Given the description of an element on the screen output the (x, y) to click on. 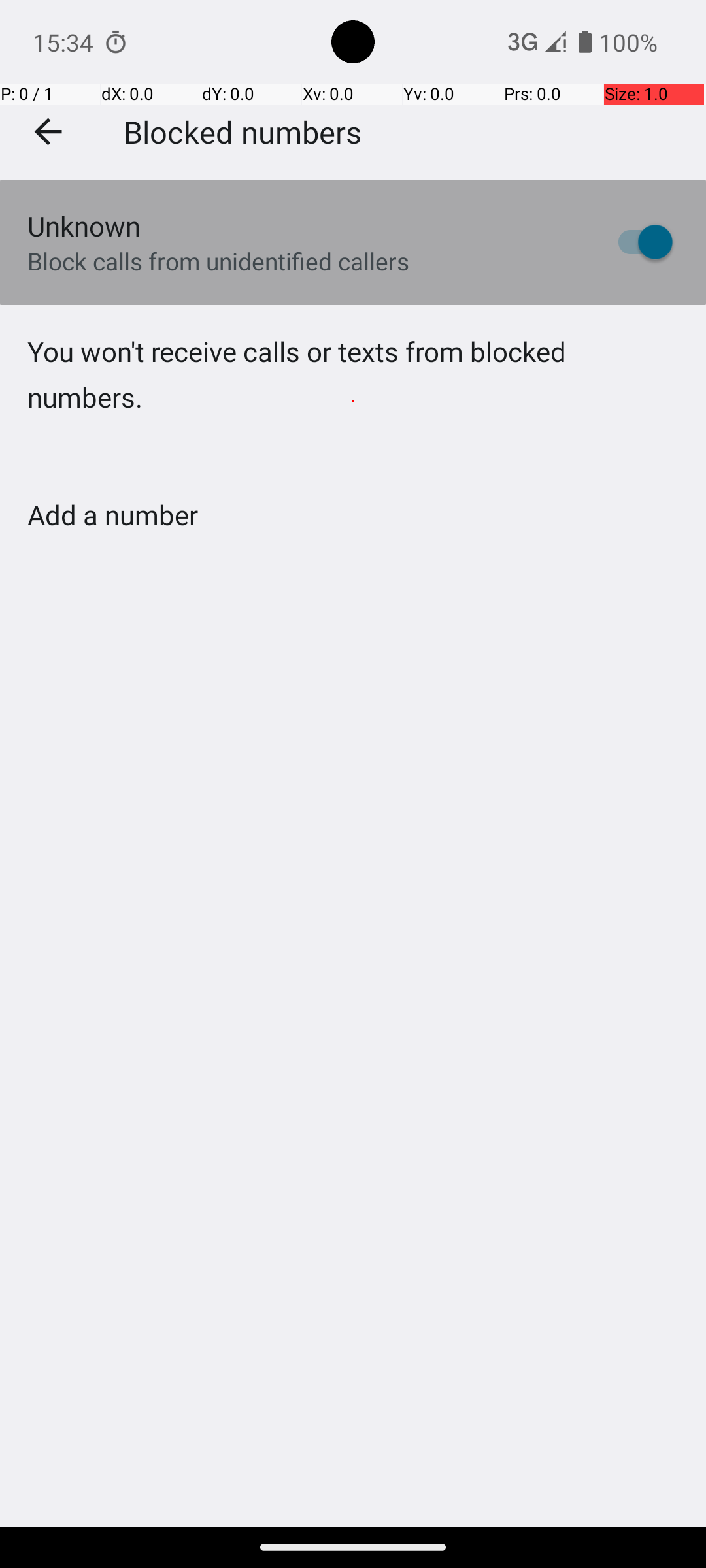
Blocked numbers Element type: android.widget.TextView (242, 131)
You won't receive calls or texts from blocked numbers. Element type: android.widget.TextView (352, 401)
Add a number Element type: android.widget.TextView (112, 514)
Unknown Element type: android.widget.TextView (83, 225)
Block calls from unidentified callers Element type: android.widget.TextView (218, 260)
